Given the description of an element on the screen output the (x, y) to click on. 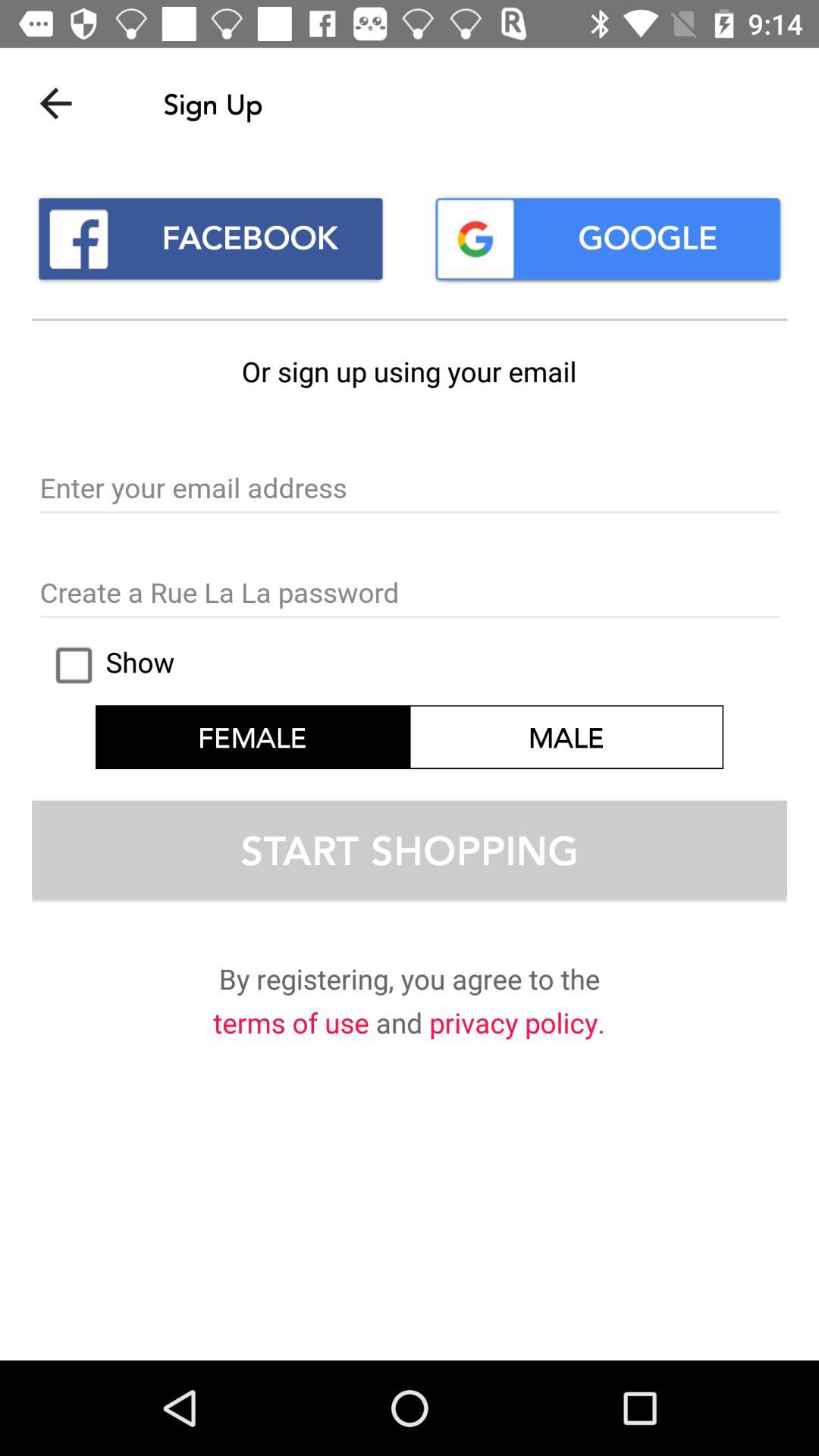
password box (409, 593)
